Given the description of an element on the screen output the (x, y) to click on. 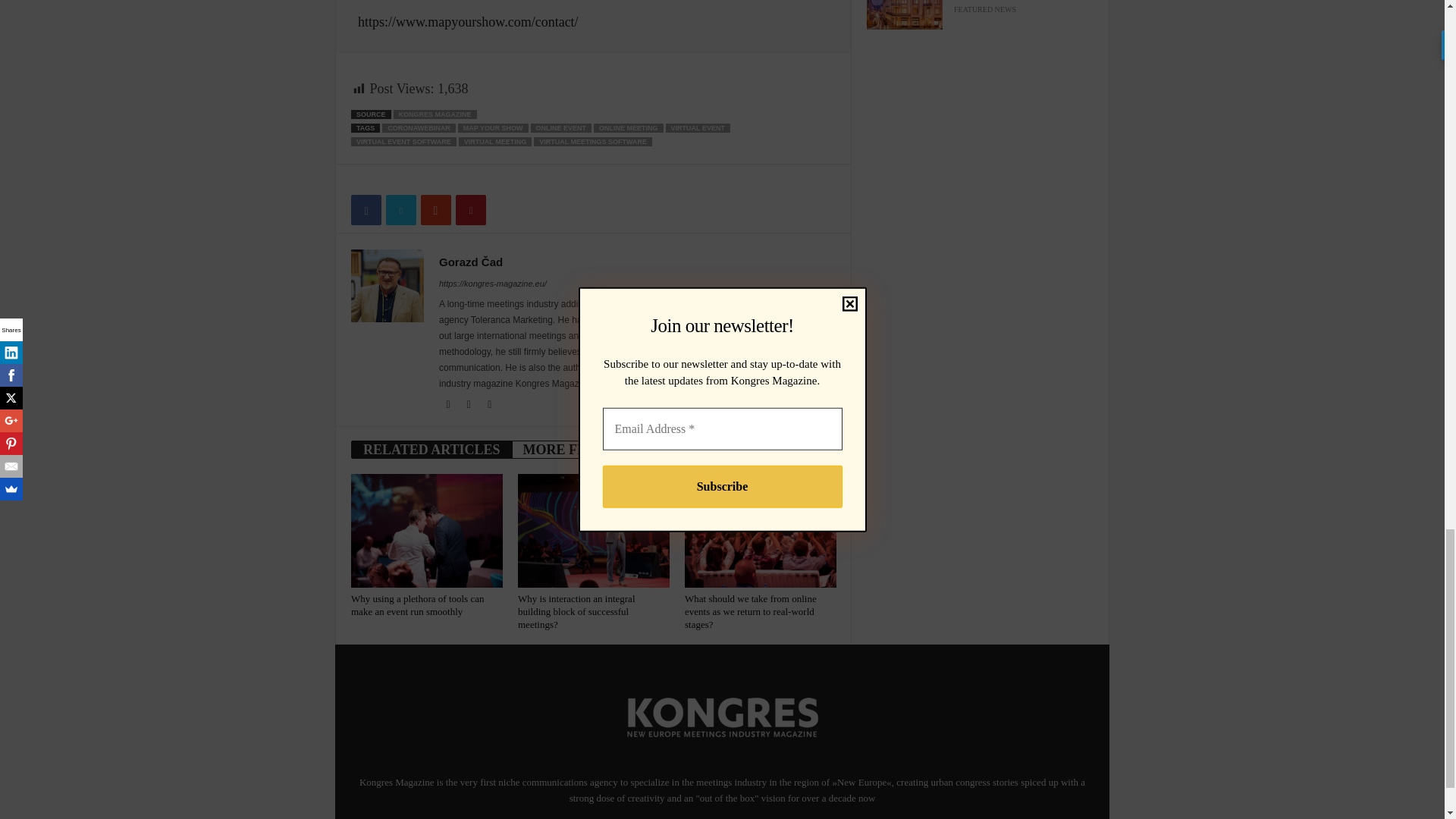
Twitter (489, 404)
Facebook (449, 404)
Why using a plethora of tools can make an event run smoothly (426, 531)
Linkedin (470, 404)
